Given the description of an element on the screen output the (x, y) to click on. 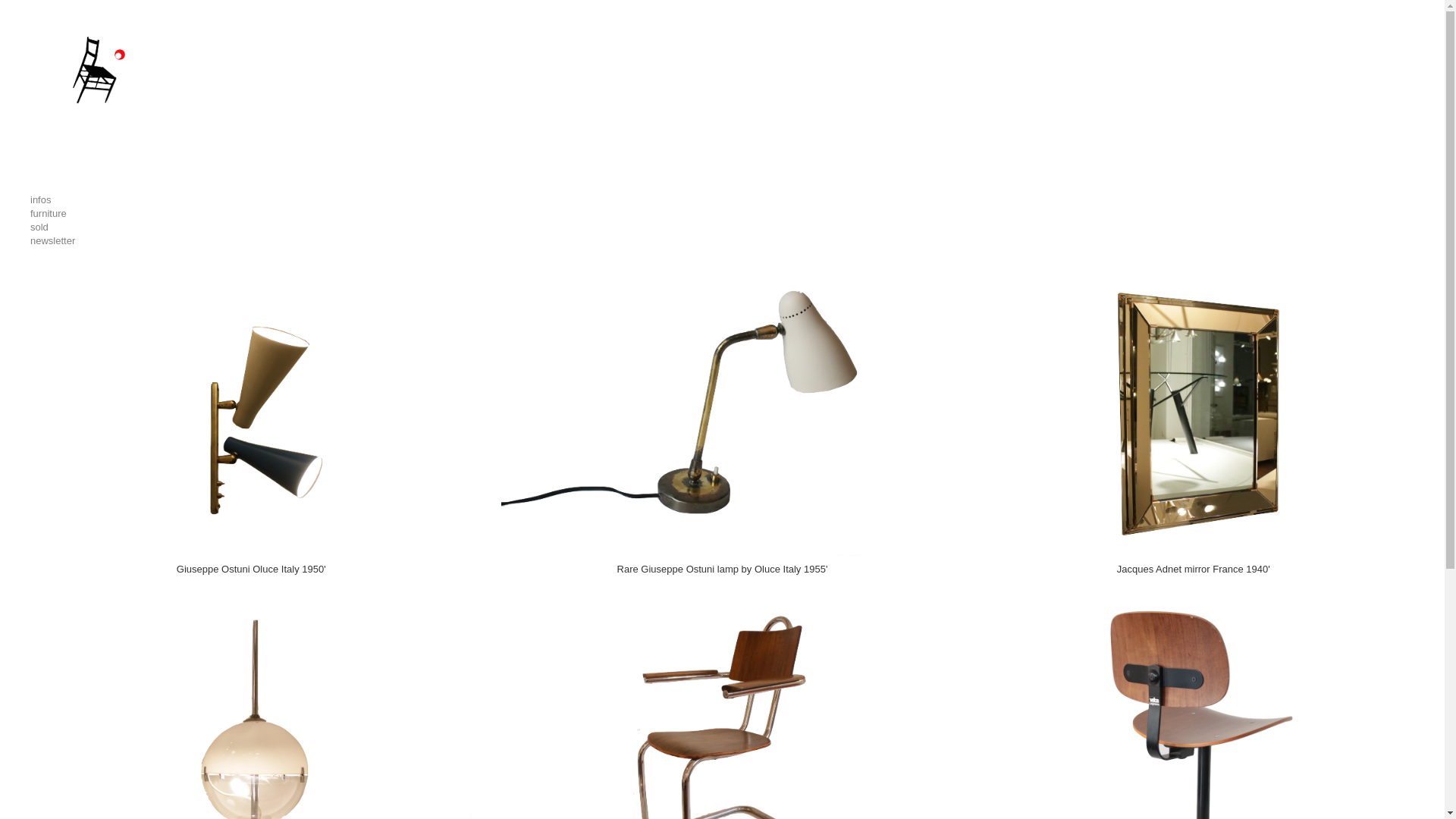
infos Element type: text (722, 200)
furniture Element type: text (722, 213)
sold Element type: text (722, 227)
newsletter Element type: text (722, 240)
